Given the description of an element on the screen output the (x, y) to click on. 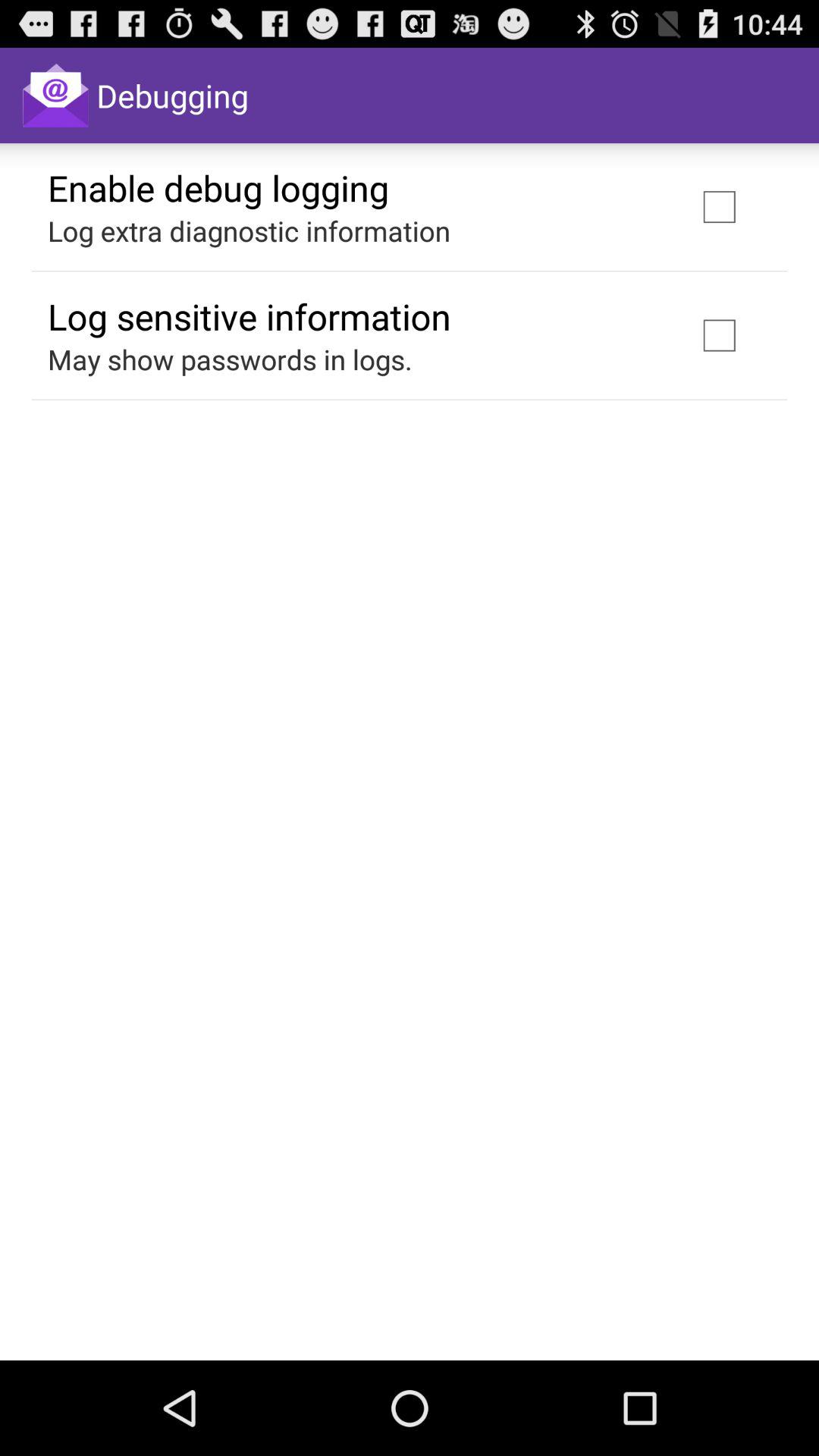
tap the log extra diagnostic icon (248, 230)
